Given the description of an element on the screen output the (x, y) to click on. 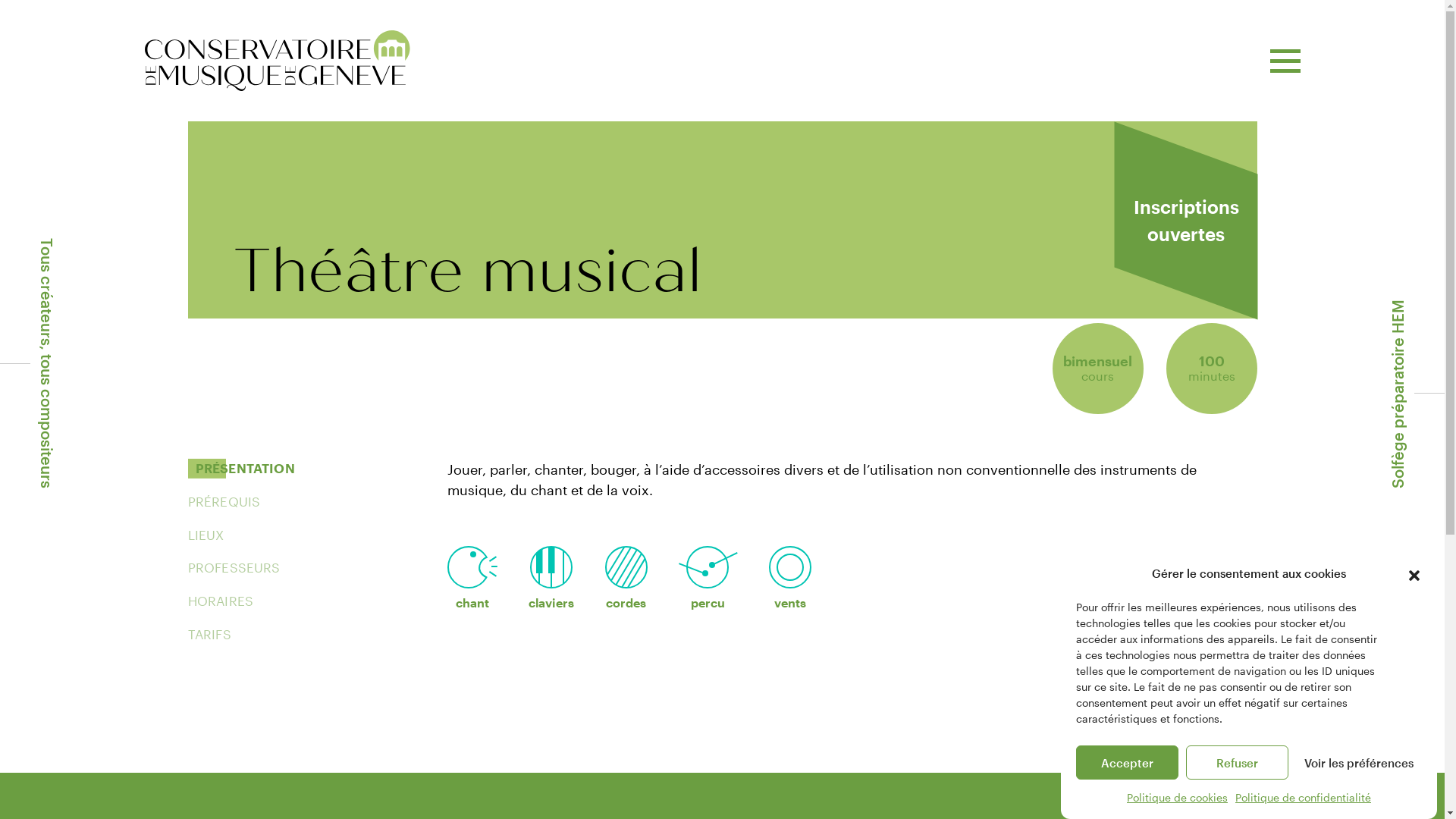
Refuser Element type: text (1237, 762)
HORAIRES Element type: text (221, 601)
Accepter Element type: text (1127, 762)
TARIFS Element type: text (209, 634)
Inscriptions
ouvertes Element type: text (1186, 220)
LIEUX Element type: text (206, 535)
PROFESSEURS Element type: text (234, 567)
Politique de cookies Element type: text (1176, 797)
